Given the description of an element on the screen output the (x, y) to click on. 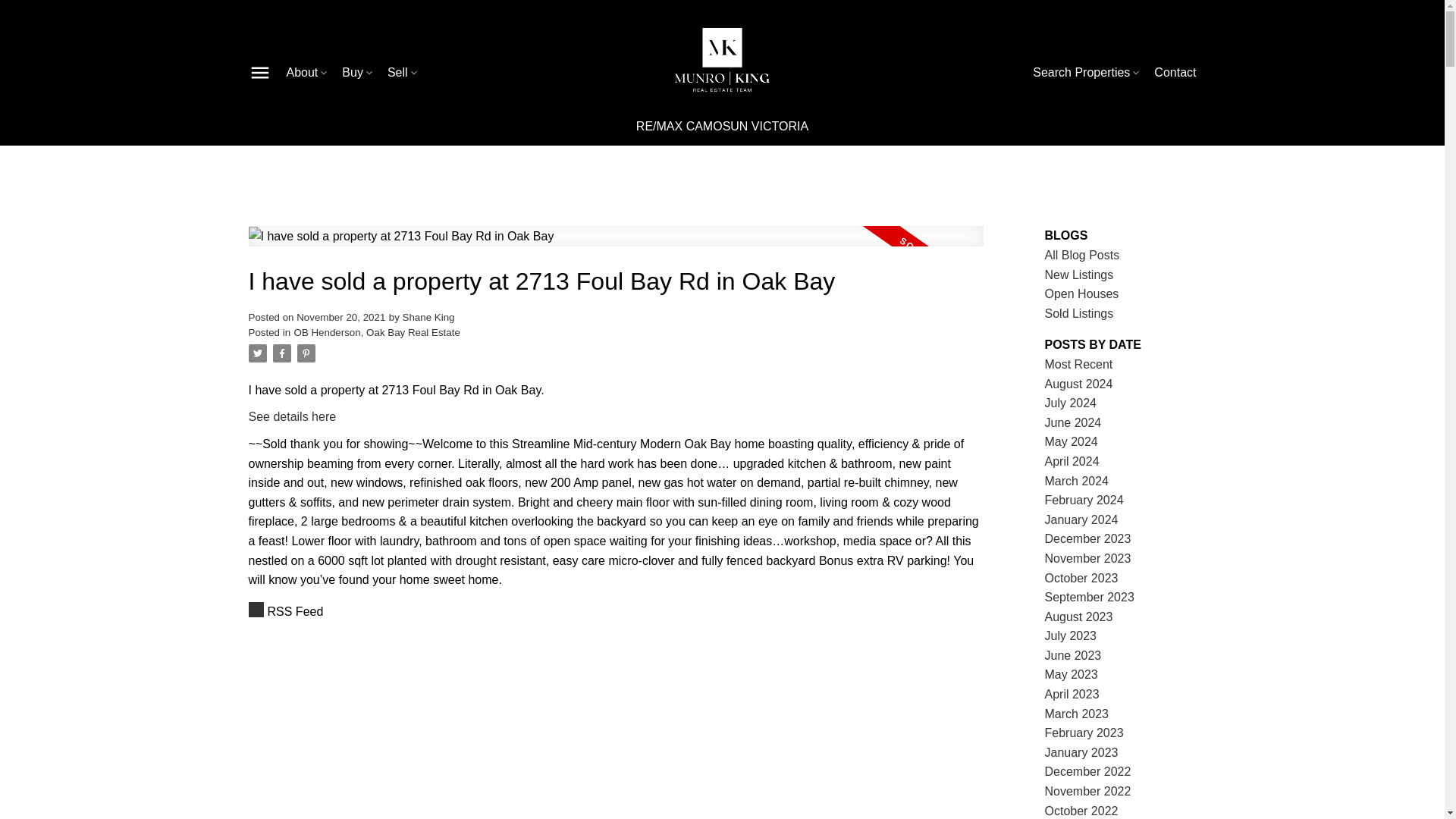
December 2023 (1088, 538)
RSS (616, 611)
OB Henderson, Oak Bay Real Estate (377, 332)
Sold Listings (1079, 313)
Buy (358, 72)
April 2024 (1072, 461)
All Blog Posts (1082, 254)
November 2023 (1088, 558)
Contact (1174, 72)
Search Properties (1086, 72)
